Given the description of an element on the screen output the (x, y) to click on. 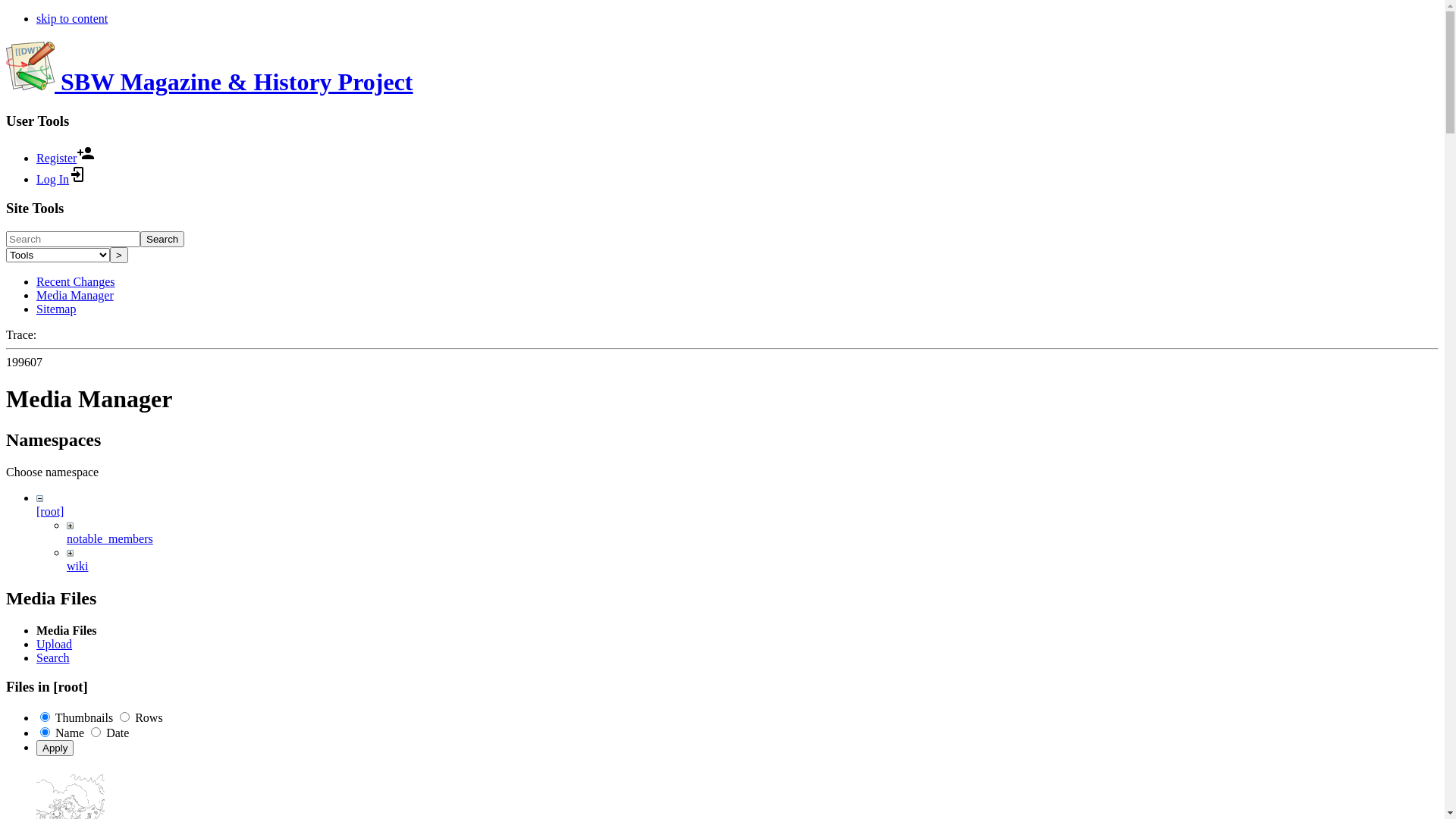
SBW Magazine & History Project Element type: text (209, 81)
Media Manager Element type: text (74, 294)
Register Element type: text (65, 157)
Recent Changes Element type: text (75, 281)
Search Element type: text (162, 239)
Search Element type: text (52, 657)
[F] Element type: hover (73, 239)
Log In Element type: text (61, 178)
Sitemap Element type: text (55, 308)
notable_members Element type: text (109, 538)
skip to content Element type: text (71, 18)
[root] Element type: text (49, 511)
> Element type: text (118, 255)
Upload Element type: text (54, 643)
wiki Element type: text (76, 565)
Apply Element type: text (54, 748)
